Given the description of an element on the screen output the (x, y) to click on. 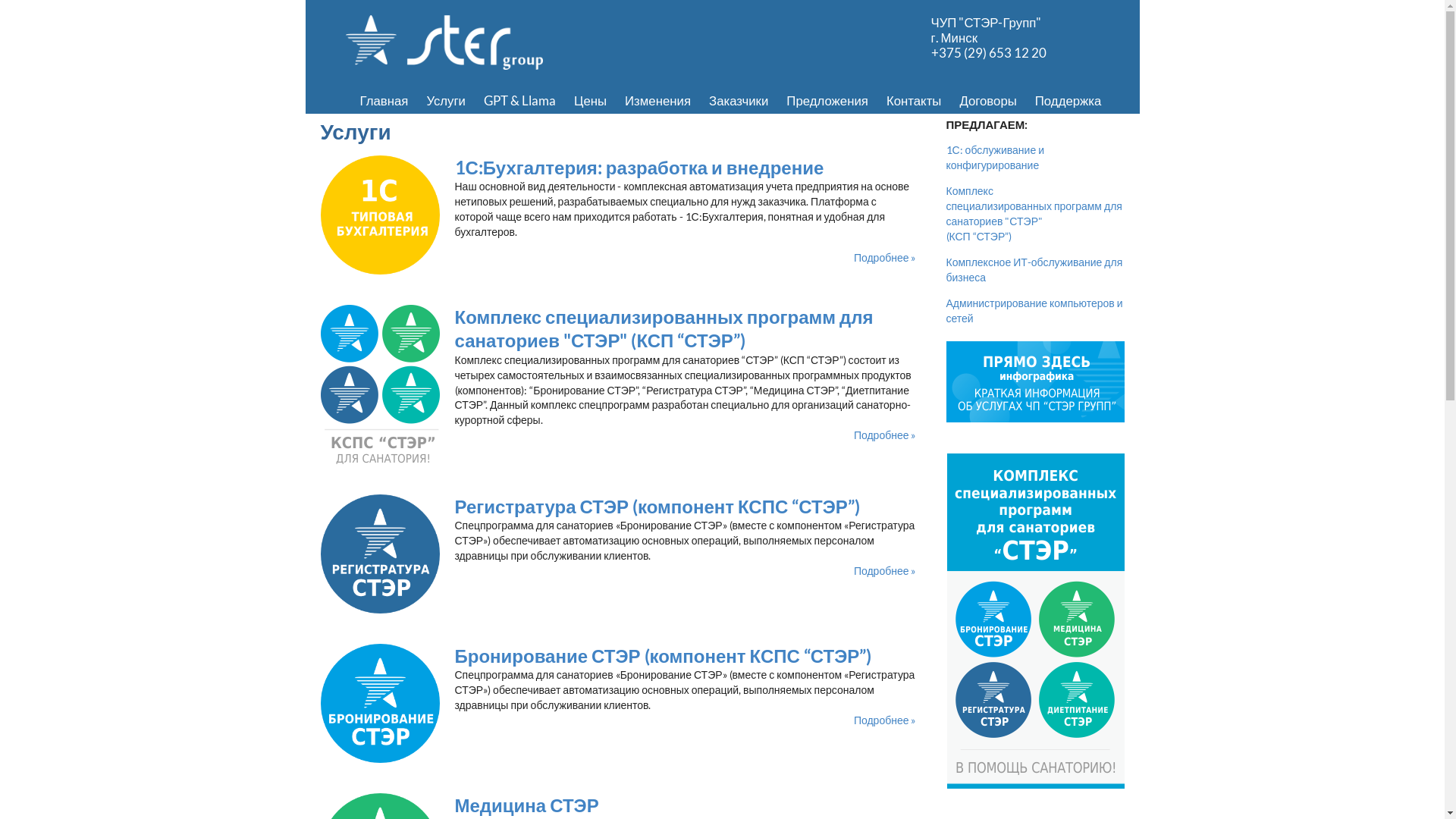
GPT & Llama Element type: text (519, 100)
